Given the description of an element on the screen output the (x, y) to click on. 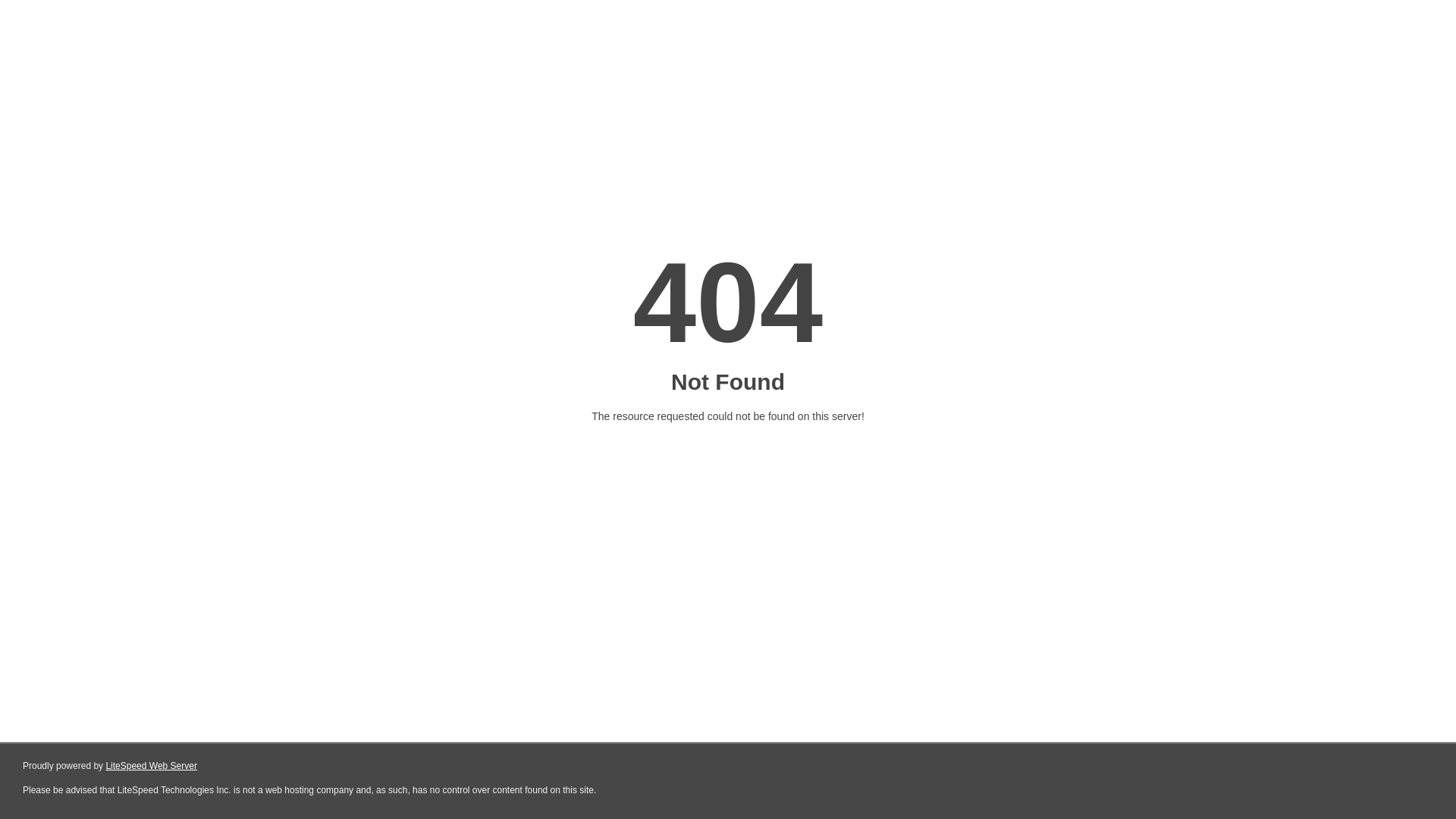
LiteSpeed Web Server Element type: text (151, 765)
